Given the description of an element on the screen output the (x, y) to click on. 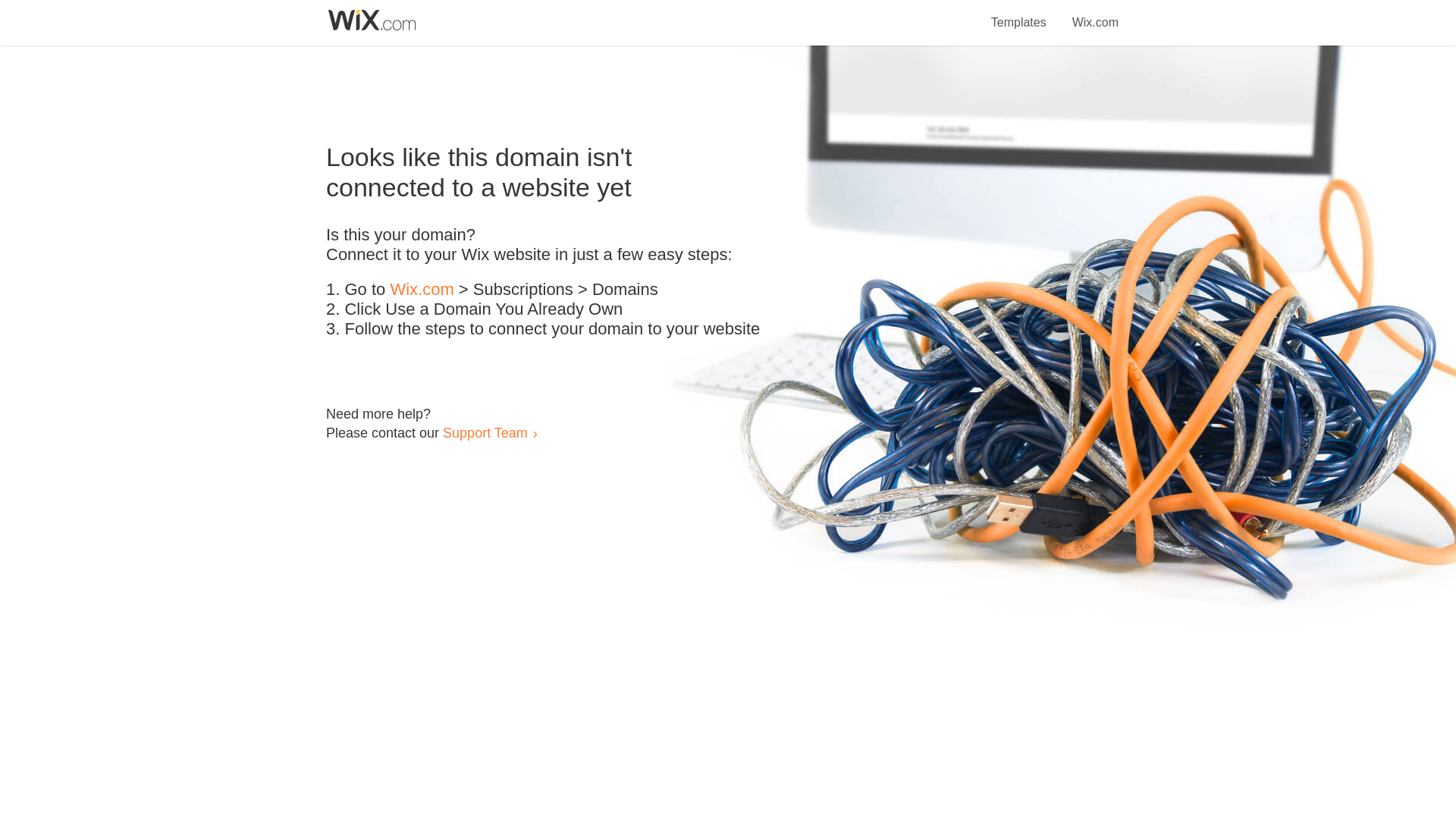
Wix.com (421, 289)
Wix.com (1095, 14)
Support Team (484, 432)
Templates (1018, 14)
